Given the description of an element on the screen output the (x, y) to click on. 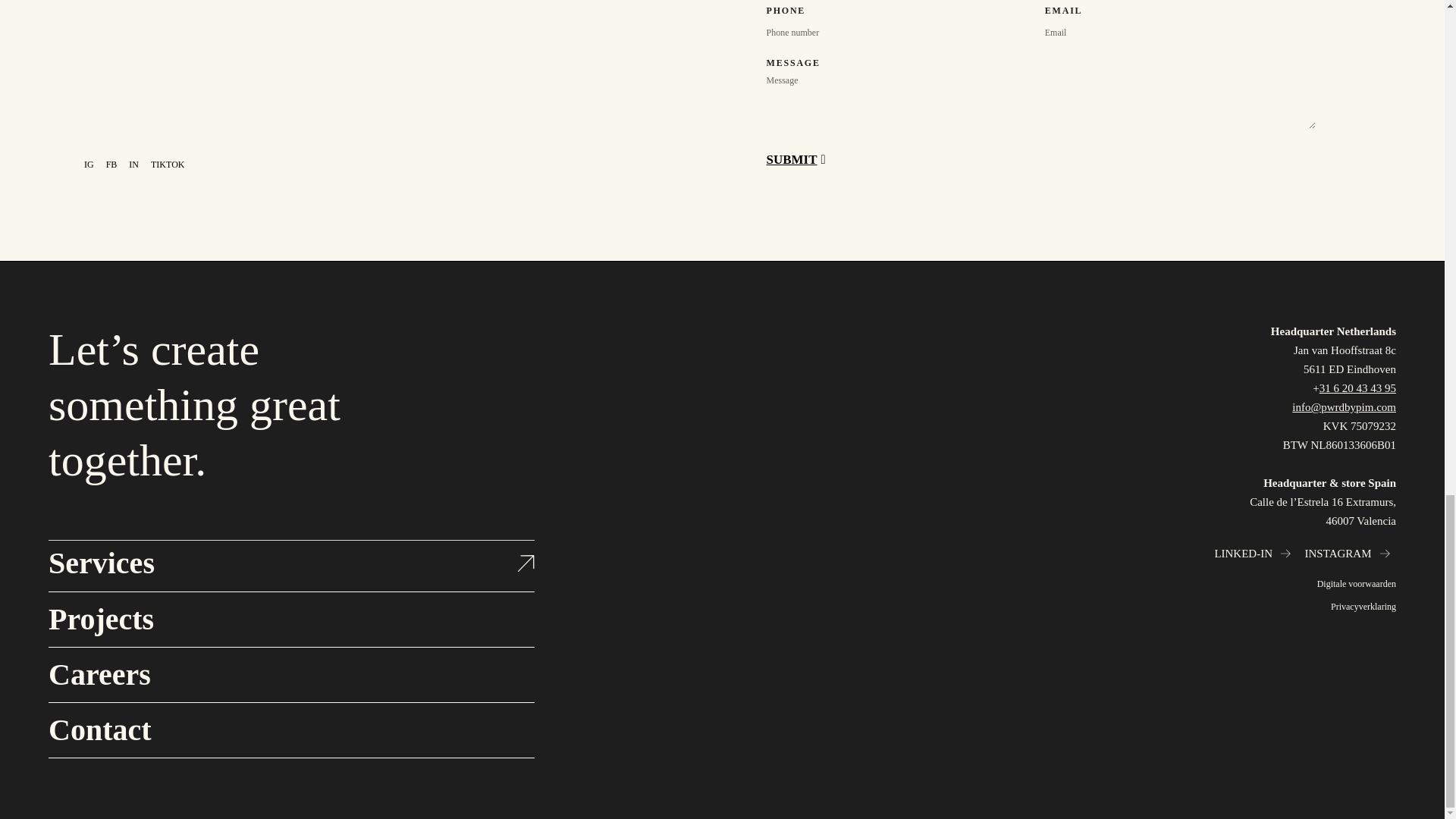
INSTAGRAM (1337, 553)
Projects (101, 618)
Careers (99, 674)
SUBMIT (795, 159)
Contact (99, 729)
Digitale voorwaarden (1062, 583)
31 6 20 43 43 95 (1357, 387)
TIKTOK (167, 164)
LINKED-IN (1243, 553)
Privacyverklaring (1062, 606)
